Given the description of an element on the screen output the (x, y) to click on. 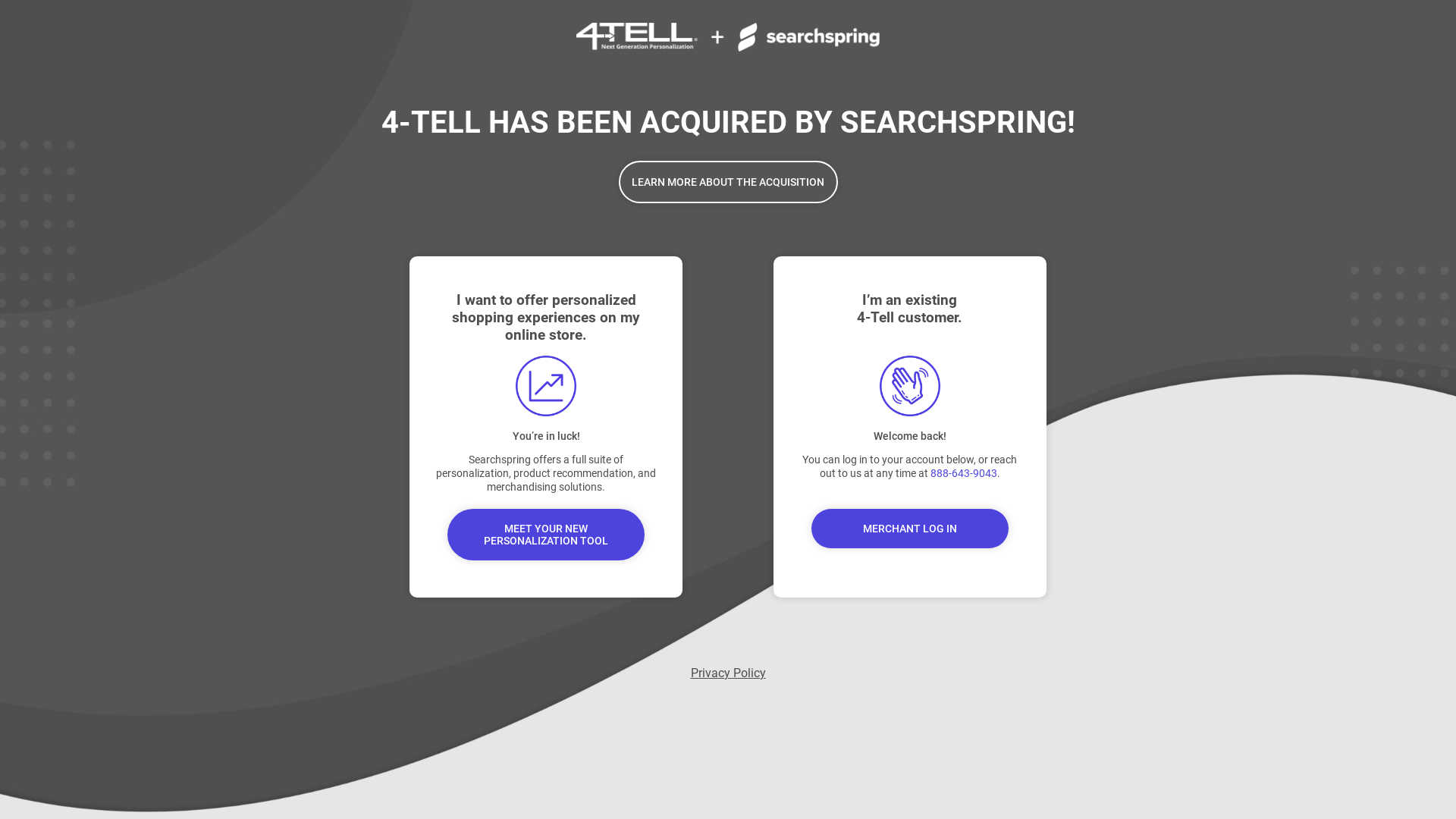
888-643-9043 Element type: text (963, 473)
LEARN MORE ABOUT THE ACQUISITION Element type: text (727, 181)
MEET YOUR NEW PERSONALIZATION TOOL Element type: text (545, 534)
MERCHANT LOG IN Element type: text (909, 528)
